Given the description of an element on the screen output the (x, y) to click on. 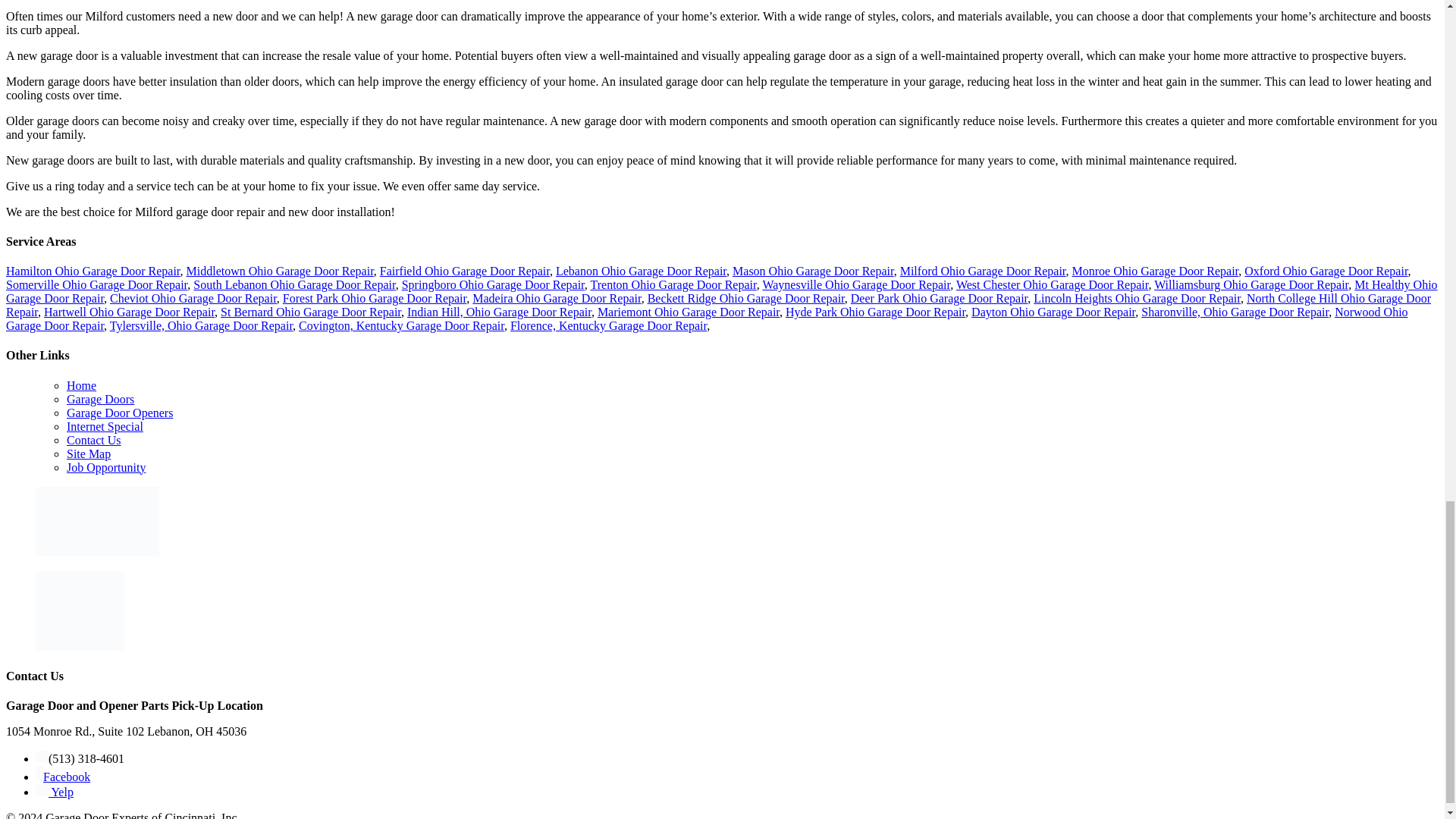
Deer Park Ohio Garage Door Repair (938, 297)
Beckett Ridge Ohio Garage Door Repair (745, 297)
Springboro Ohio Garage Door Repair (493, 284)
Lebanon Ohio Garage Door Repair (641, 270)
Madeira Ohio Garage Door Repair (555, 297)
Permanent Link to Cheviot Ohio Garage Door Repair (193, 297)
Milford Ohio Garage Door Repair (982, 270)
Permanent Link to Somerville Ohio Garage Door Repair (96, 284)
Hamilton Ohio Garage Door Repair (92, 270)
Lincoln Heights Ohio Garage Door Repair (1136, 297)
Somerville Ohio Garage Door Repair (96, 284)
Permanent Link to Trenton Ohio Garage Door Repair (672, 284)
Fairfield Ohio Garage Door Repair (465, 270)
Forest Park Ohio Garage Door Repair (373, 297)
Permanent Link to Lebanon Ohio Garage Door Repair (641, 270)
